Given the description of an element on the screen output the (x, y) to click on. 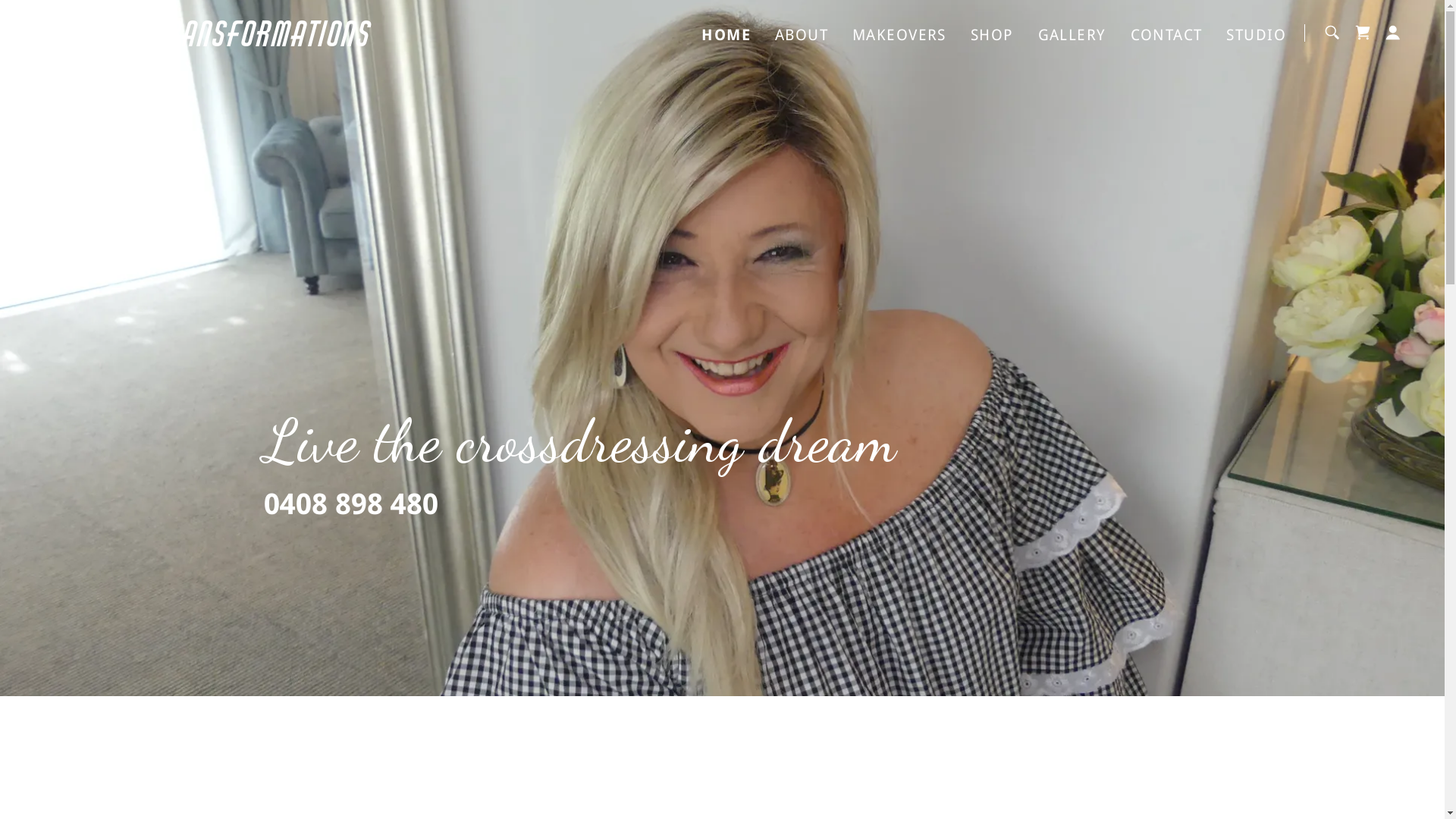
HOME Element type: text (725, 34)
ABOUT Element type: text (801, 34)
STUDIO Element type: text (1255, 34)
CONTACT Element type: text (1165, 34)
SHOP Element type: text (992, 34)
GALLERY Element type: text (1071, 34)
House of Transformations Element type: text (276, 40)
MAKEOVERS Element type: text (898, 34)
